Given the description of an element on the screen output the (x, y) to click on. 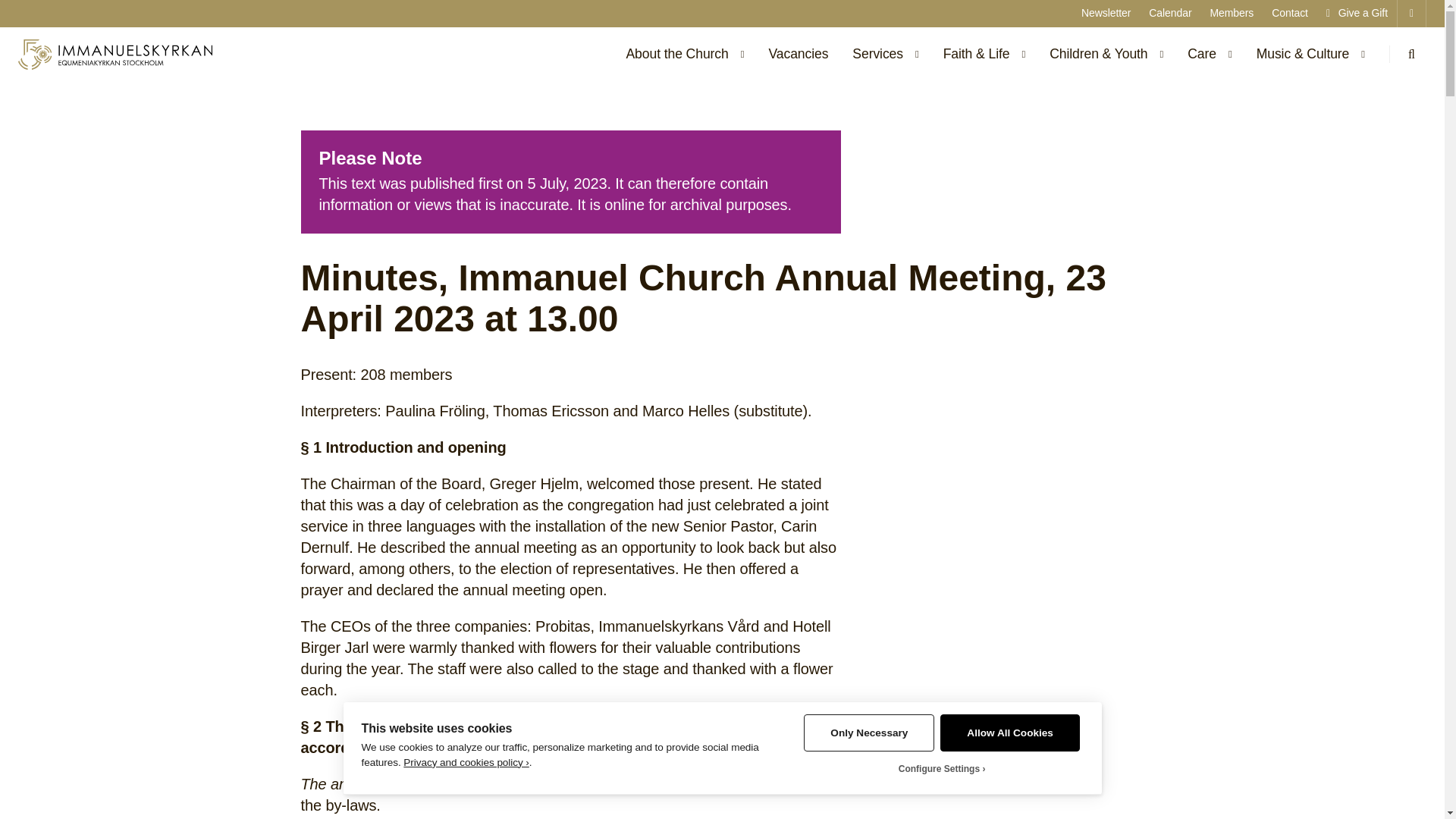
Contact (1289, 13)
Newsletter (1106, 13)
About the Church (685, 54)
Services (884, 54)
Calendar (1169, 13)
Search (1416, 53)
Members (1231, 13)
Vacancies (798, 54)
Give a Gift (1356, 13)
